Given the description of an element on the screen output the (x, y) to click on. 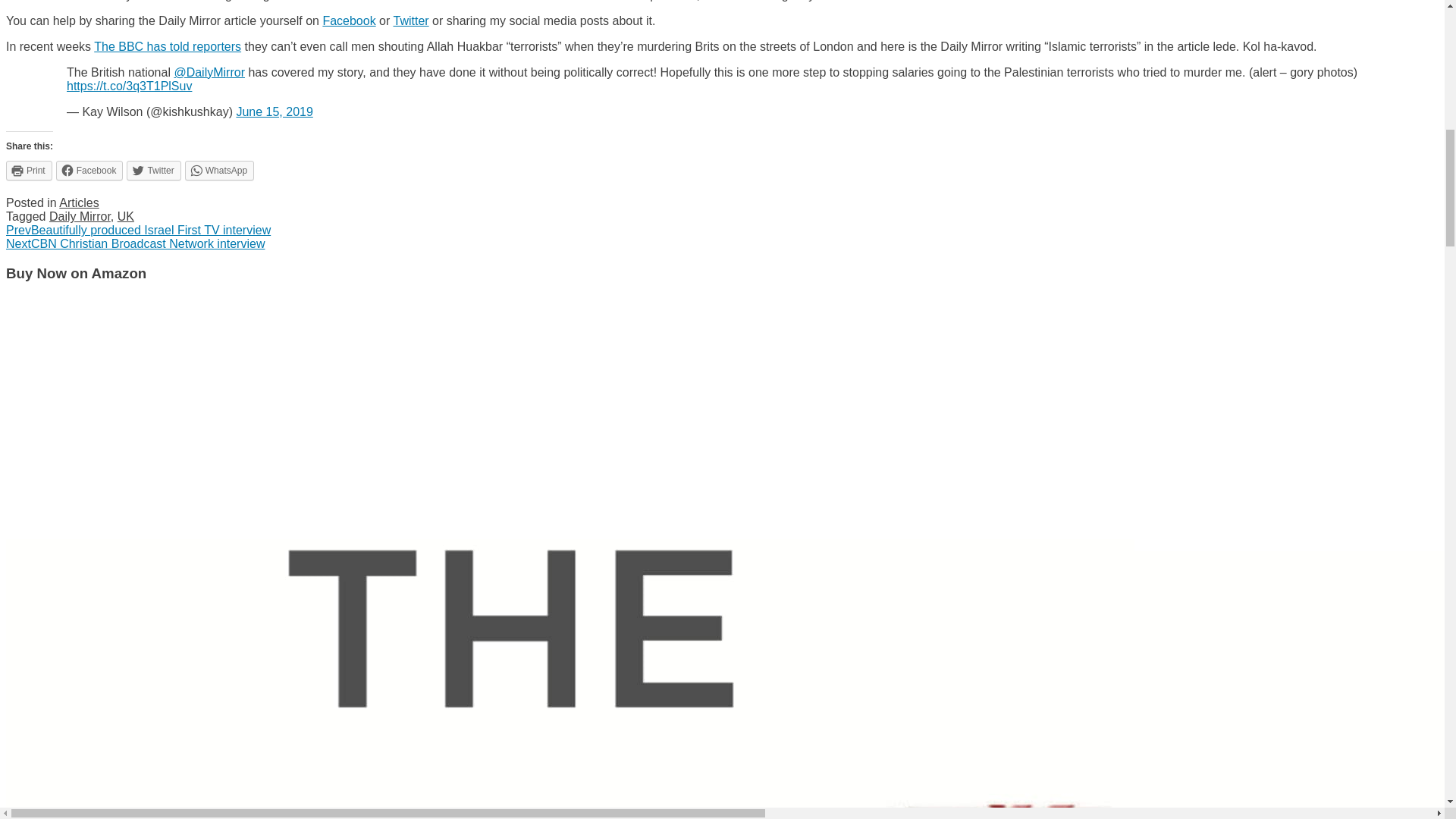
UK (125, 215)
Facebook (89, 170)
Facebook (348, 20)
June 15, 2019 (274, 111)
NextCBN Christian Broadcast Network interview (134, 243)
PrevBeautifully produced Israel First TV interview (137, 229)
Twitter (410, 20)
Print (28, 170)
Click to print (28, 170)
Click to share on Twitter (153, 170)
Click to share on WhatsApp (218, 170)
Twitter (153, 170)
Daily Mirror (79, 215)
The BBC has told reporters (167, 46)
WhatsApp (218, 170)
